Given the description of an element on the screen output the (x, y) to click on. 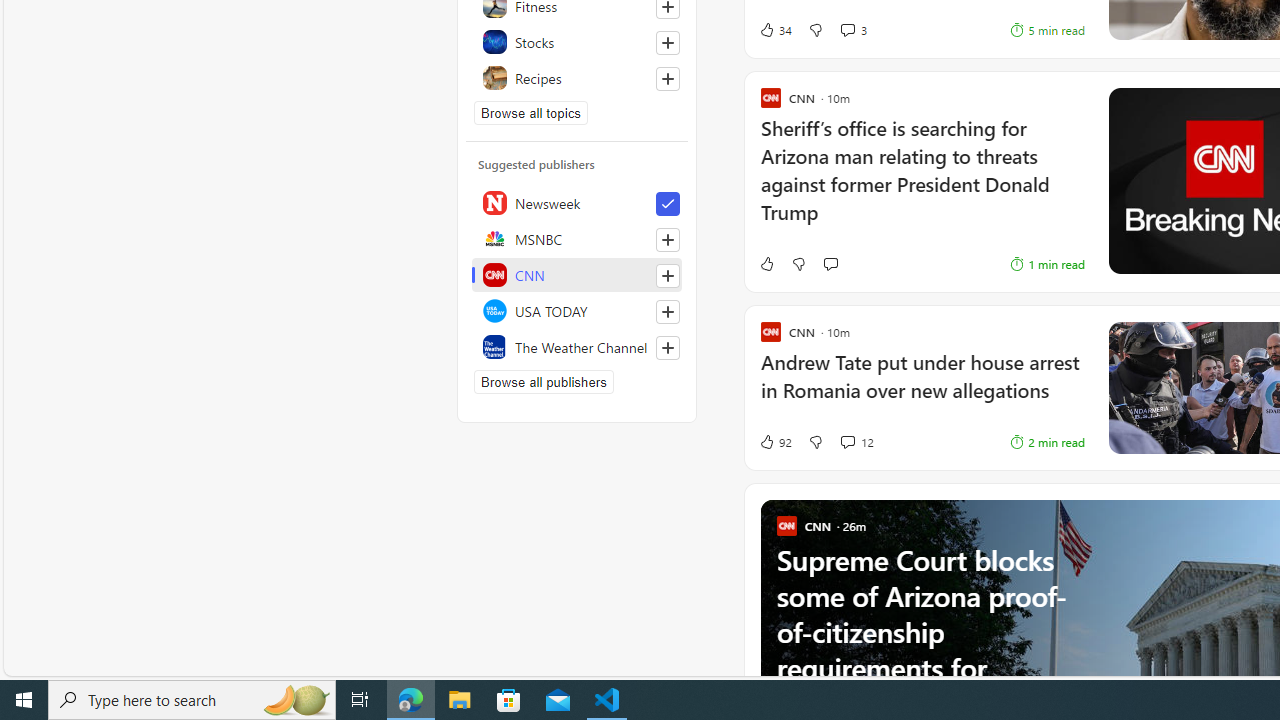
Browse all publishers (543, 381)
Like (744, 264)
92 Like (753, 442)
View comments 3 Comment (852, 30)
View comments 3 Comment (847, 30)
Follow this topic (667, 78)
USA TODAY (577, 310)
MSNBC (577, 238)
The Weather Channel (577, 346)
